Given the description of an element on the screen output the (x, y) to click on. 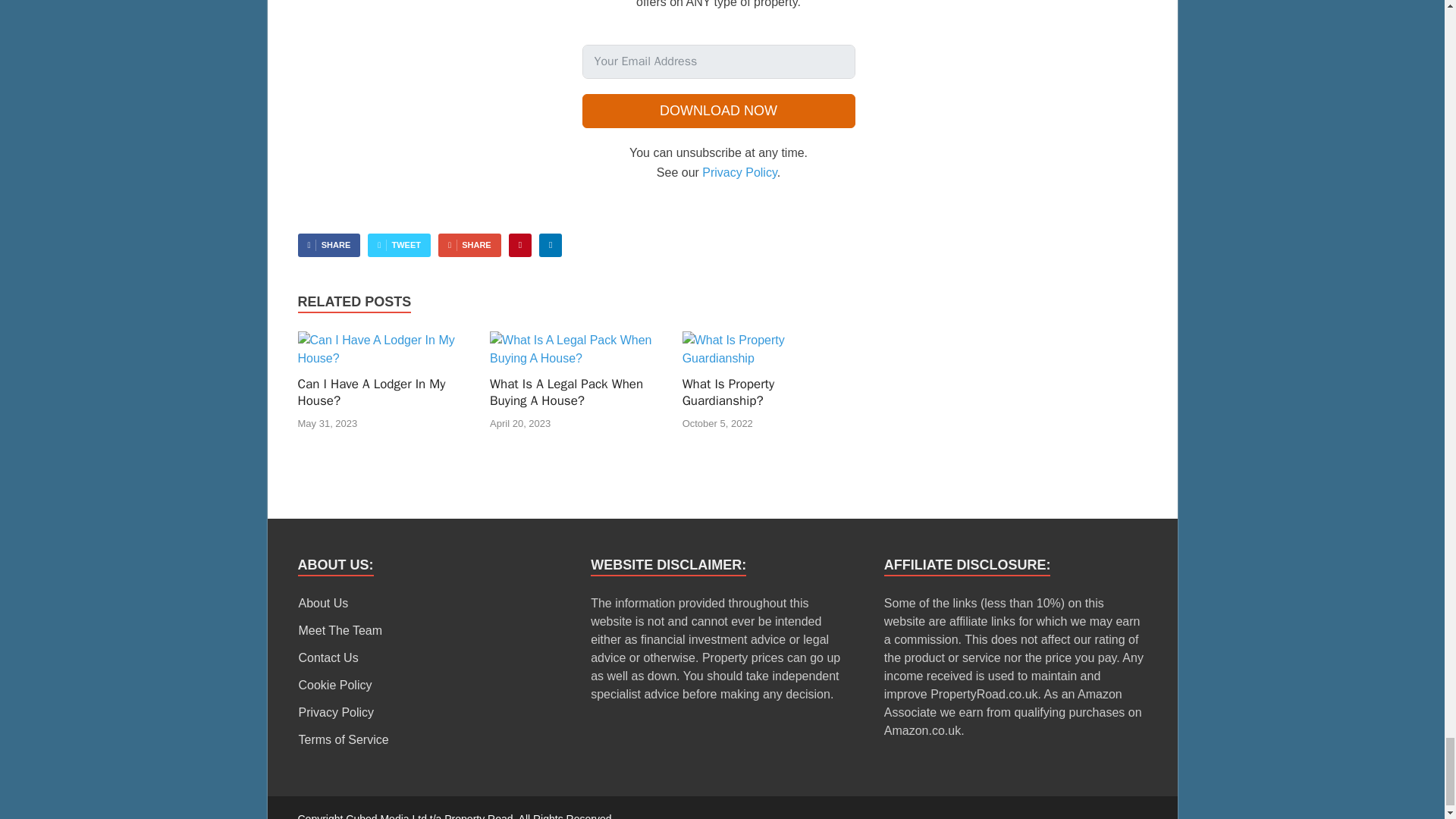
What Is Property Guardianship? (728, 391)
Can I Have A Lodger In My House? (371, 391)
What Is A Legal Pack When Buying A House? (566, 391)
What Is Property Guardianship? (769, 358)
What Is A Legal Pack When Buying A House? (575, 358)
Can I Have A Lodger In My House? (383, 358)
